Given the description of an element on the screen output the (x, y) to click on. 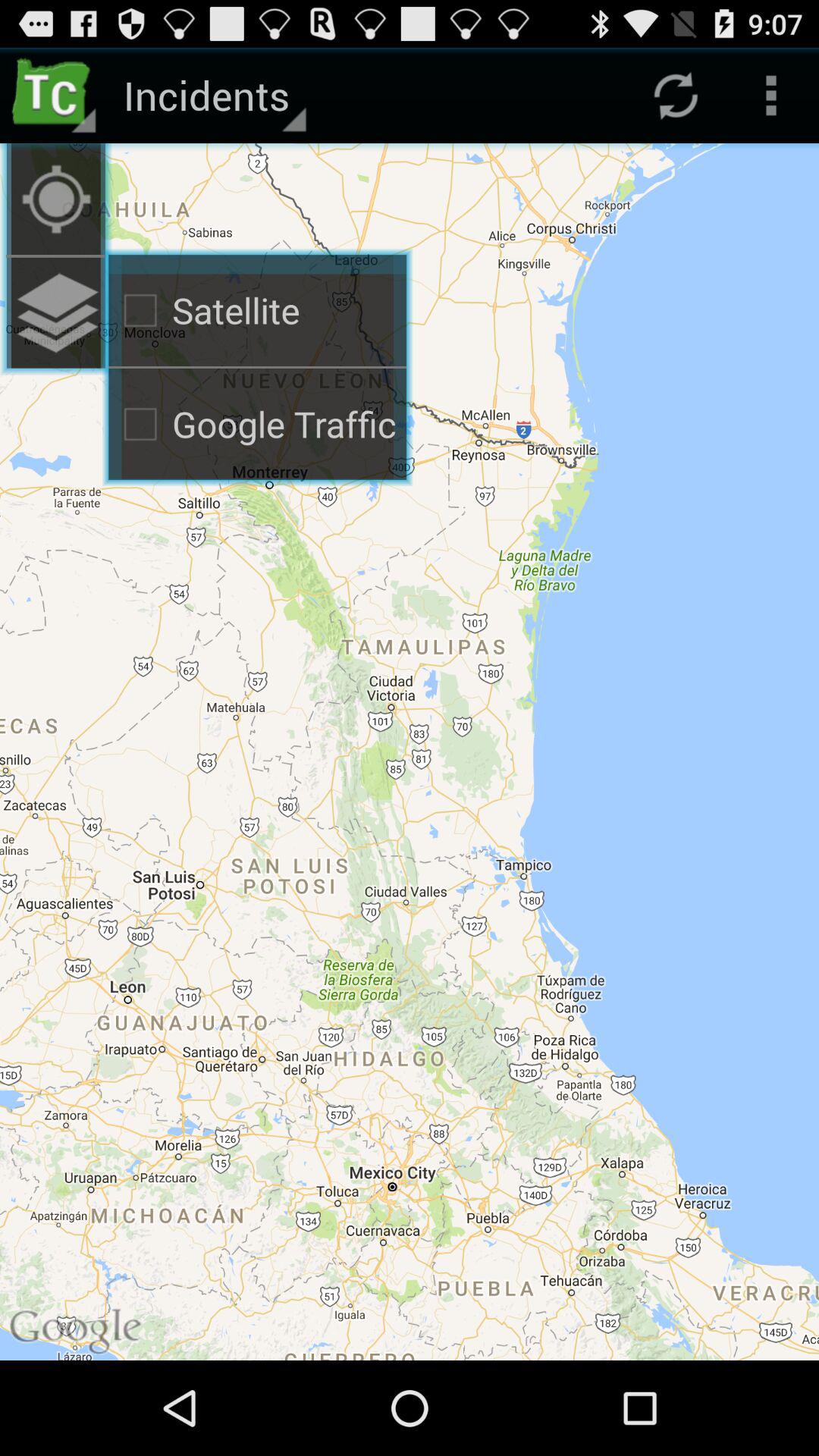
choose icon next to the incidents item (55, 95)
